Given the description of an element on the screen output the (x, y) to click on. 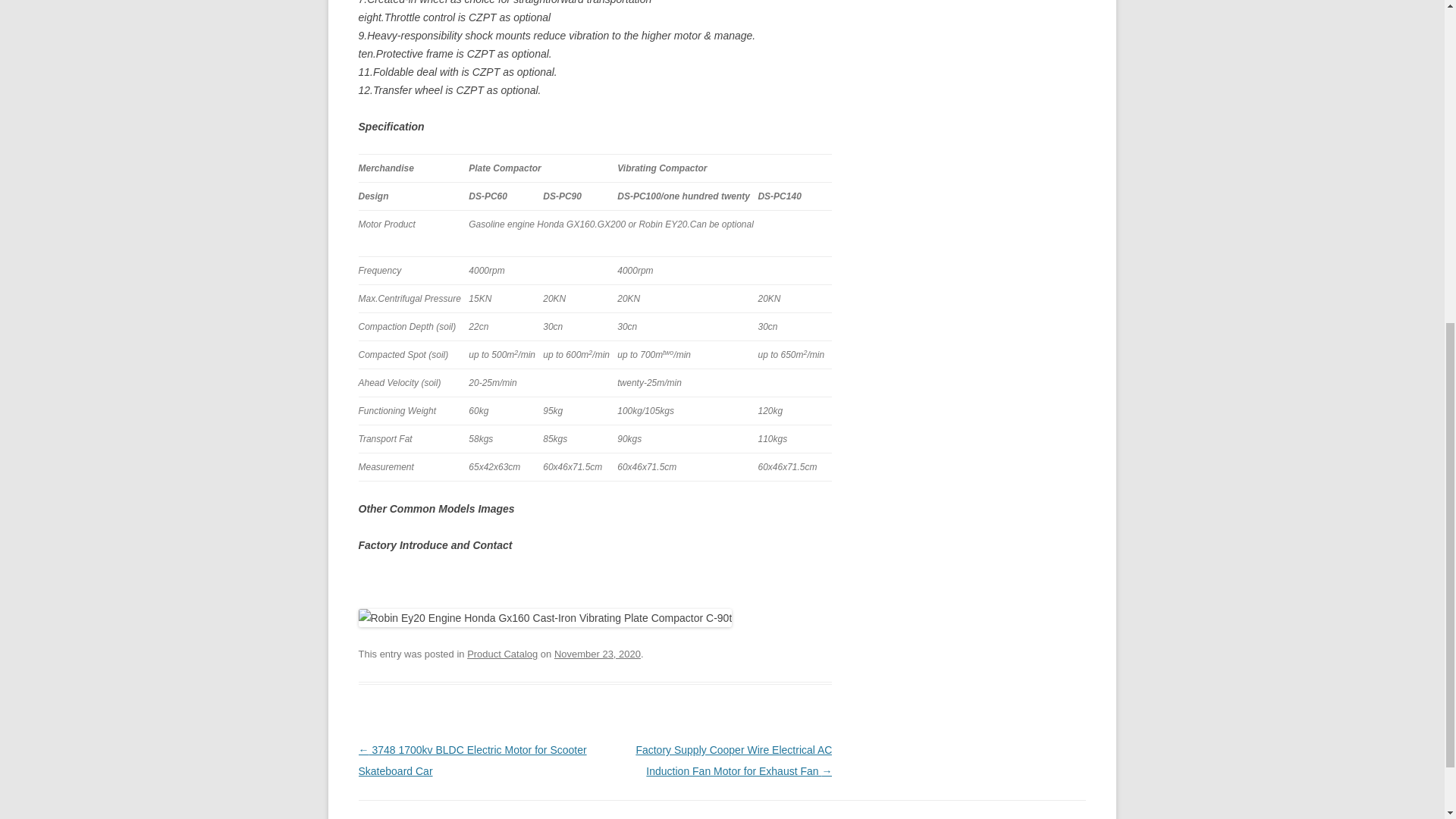
November 23, 2020 (597, 654)
1:35 am (597, 654)
Product Catalog (502, 654)
